Given the description of an element on the screen output the (x, y) to click on. 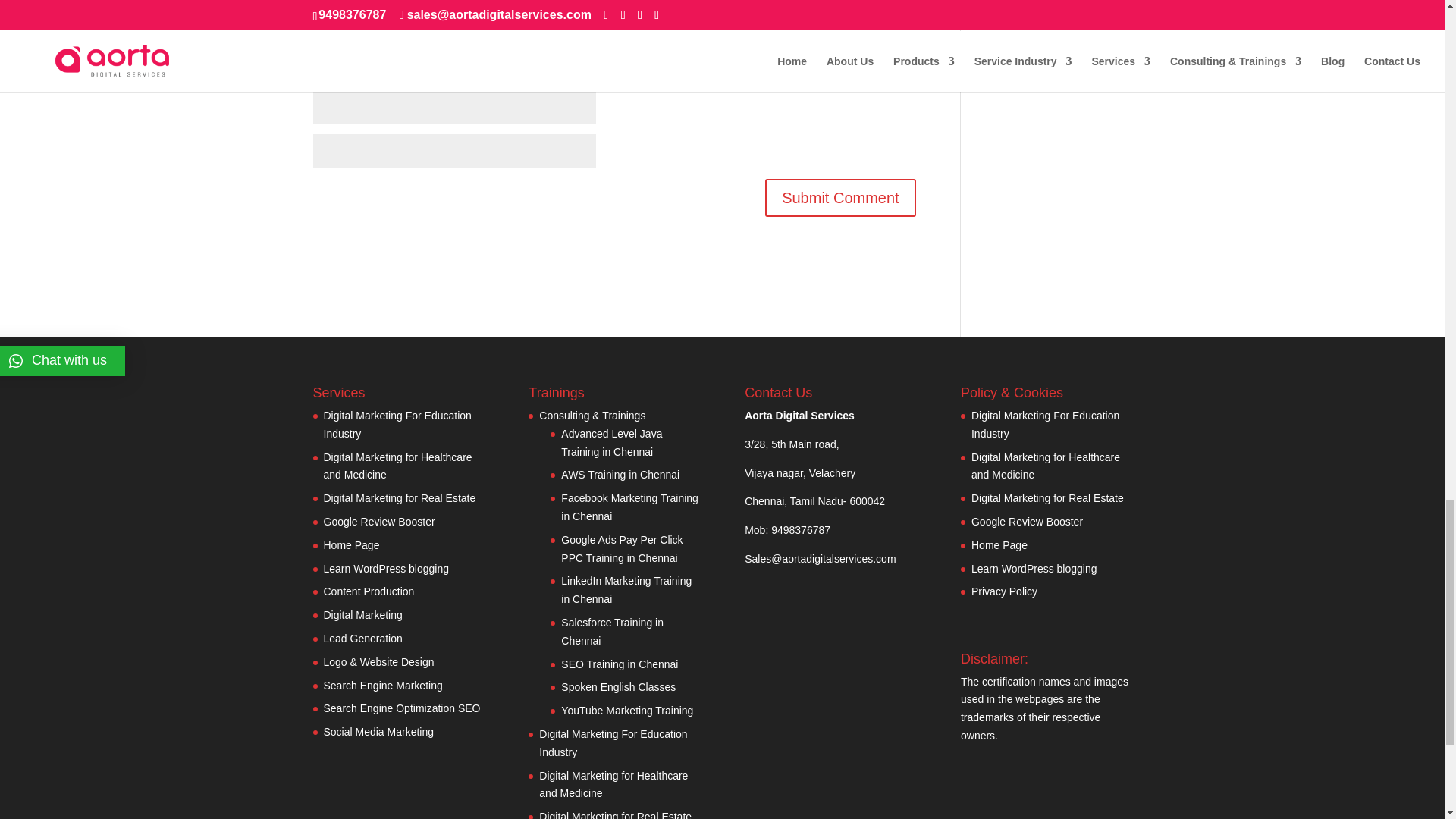
Submit Comment (840, 198)
